Given the description of an element on the screen output the (x, y) to click on. 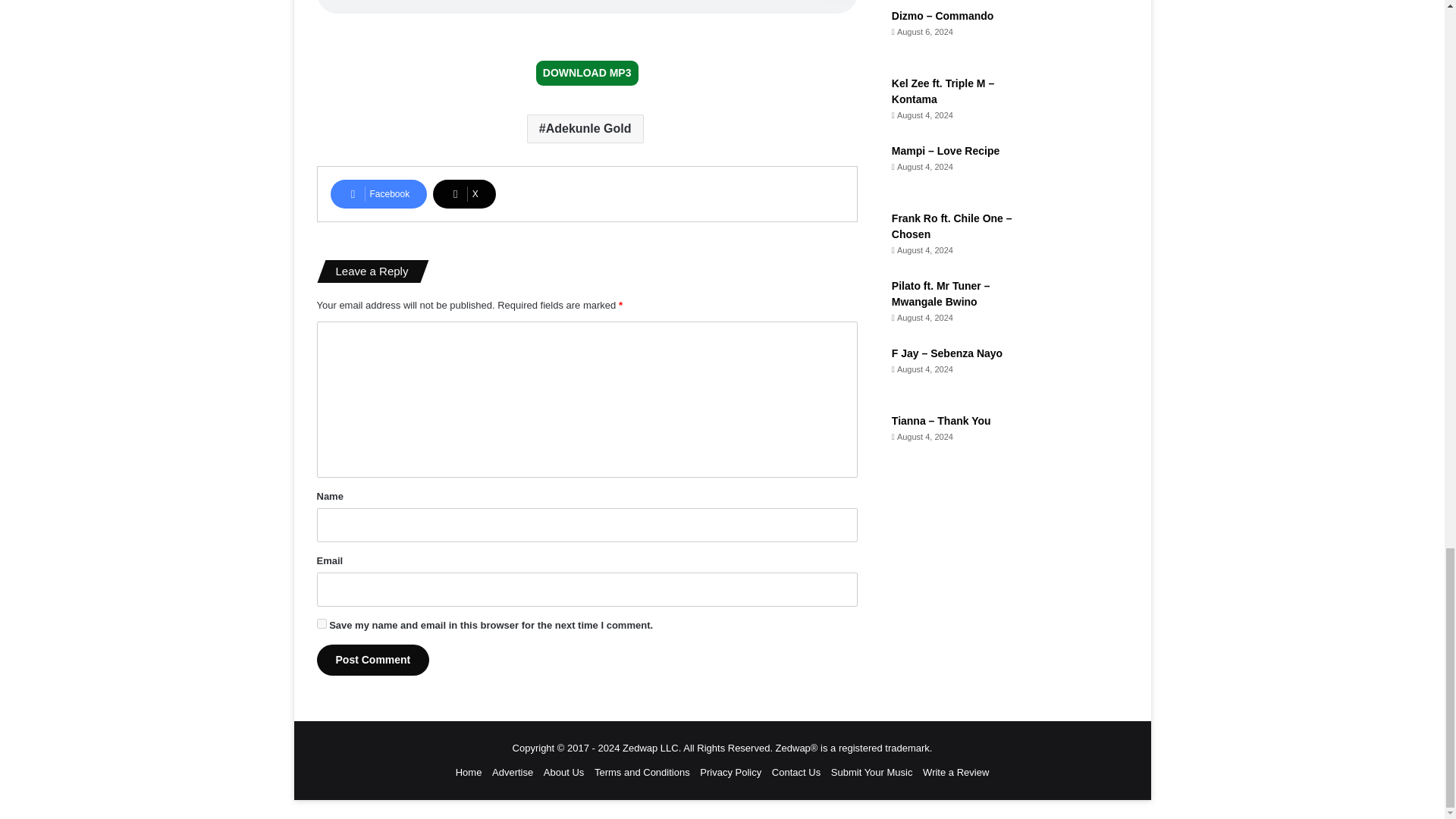
Facebook (379, 193)
X (464, 193)
yes (321, 623)
Post Comment (373, 659)
DOWNLOAD MP3 (587, 72)
